Given the description of an element on the screen output the (x, y) to click on. 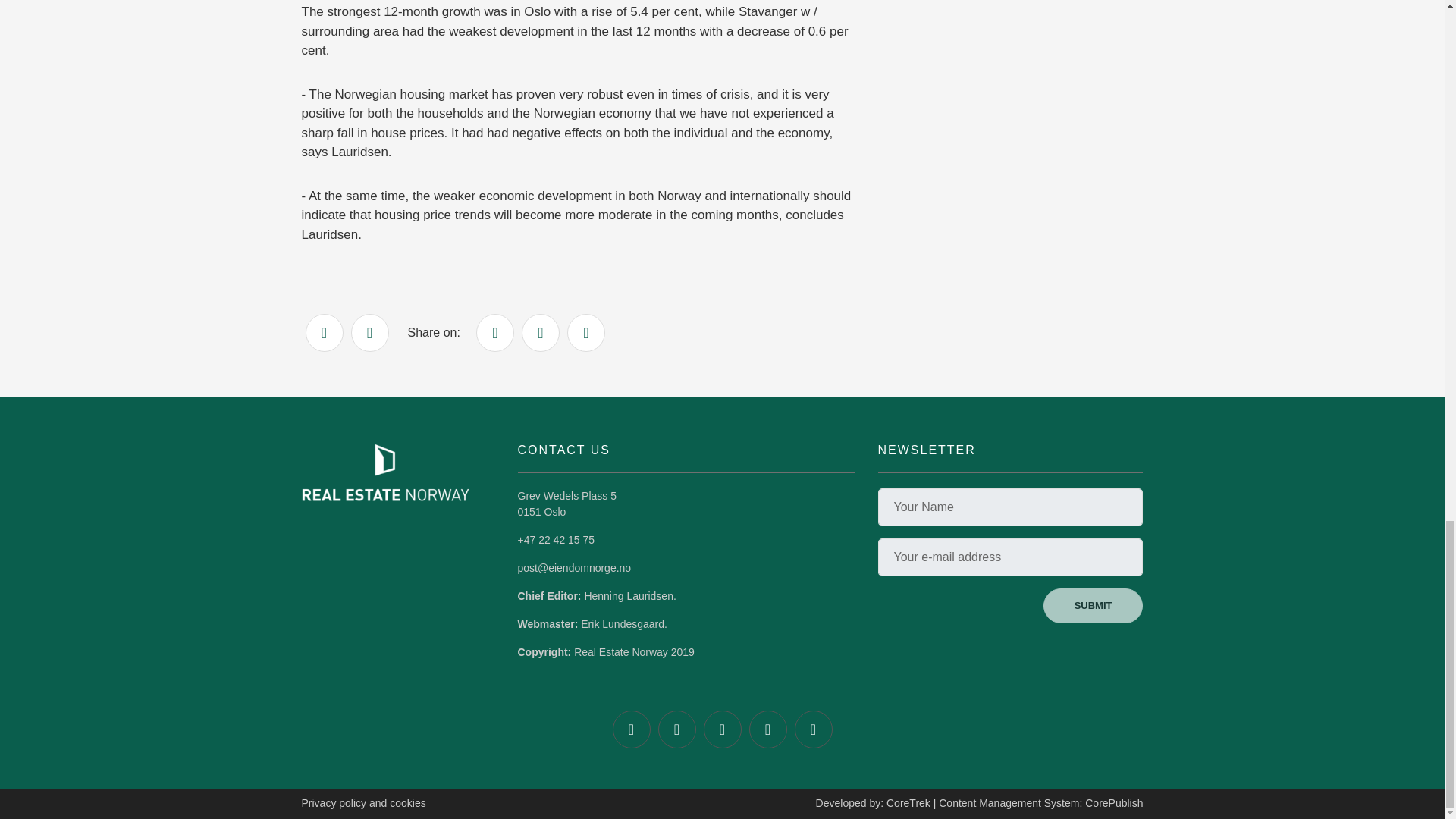
Submit (1092, 605)
